Given the description of an element on the screen output the (x, y) to click on. 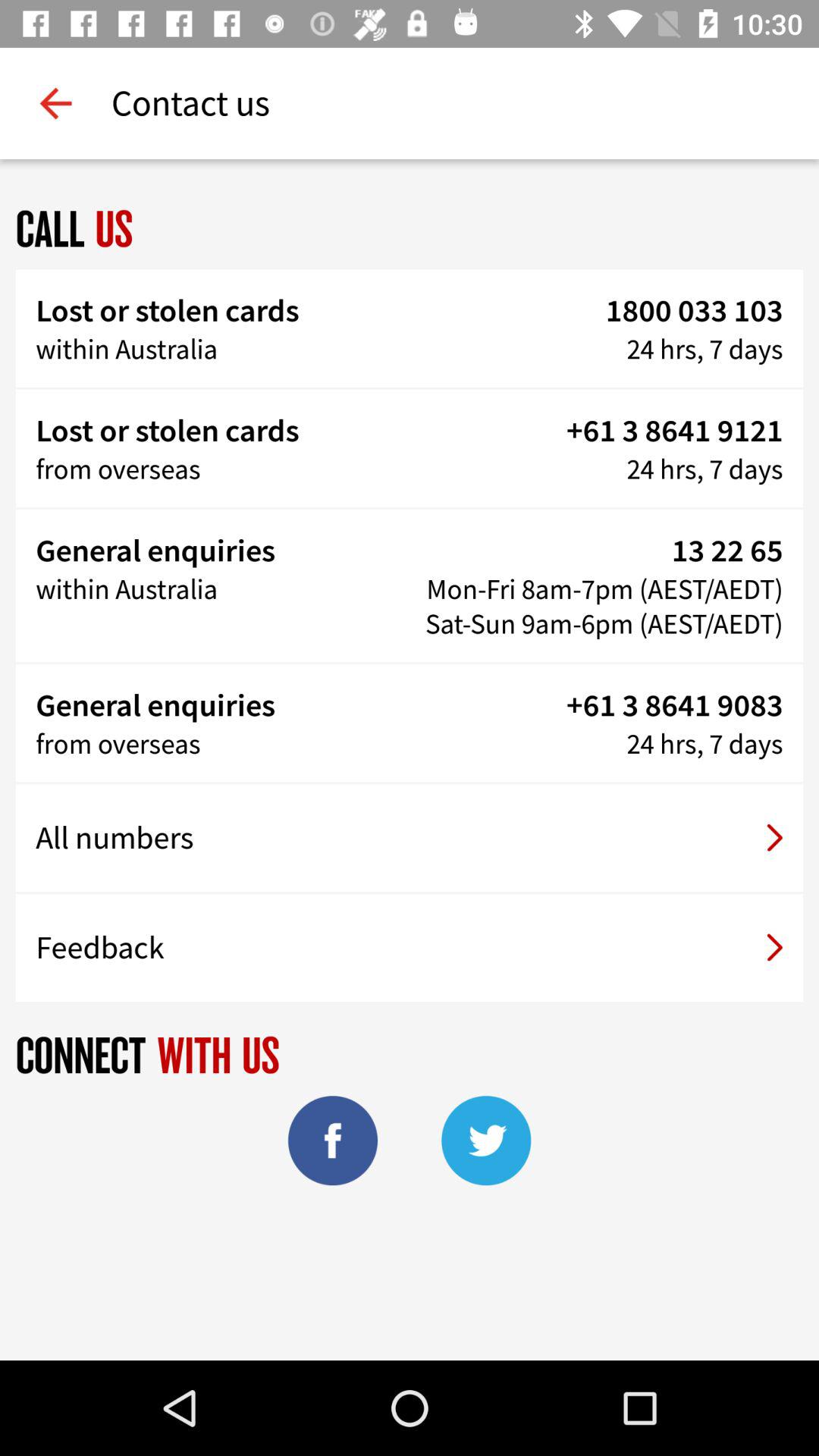
turn off the icon below the all numbers item (409, 947)
